Given the description of an element on the screen output the (x, y) to click on. 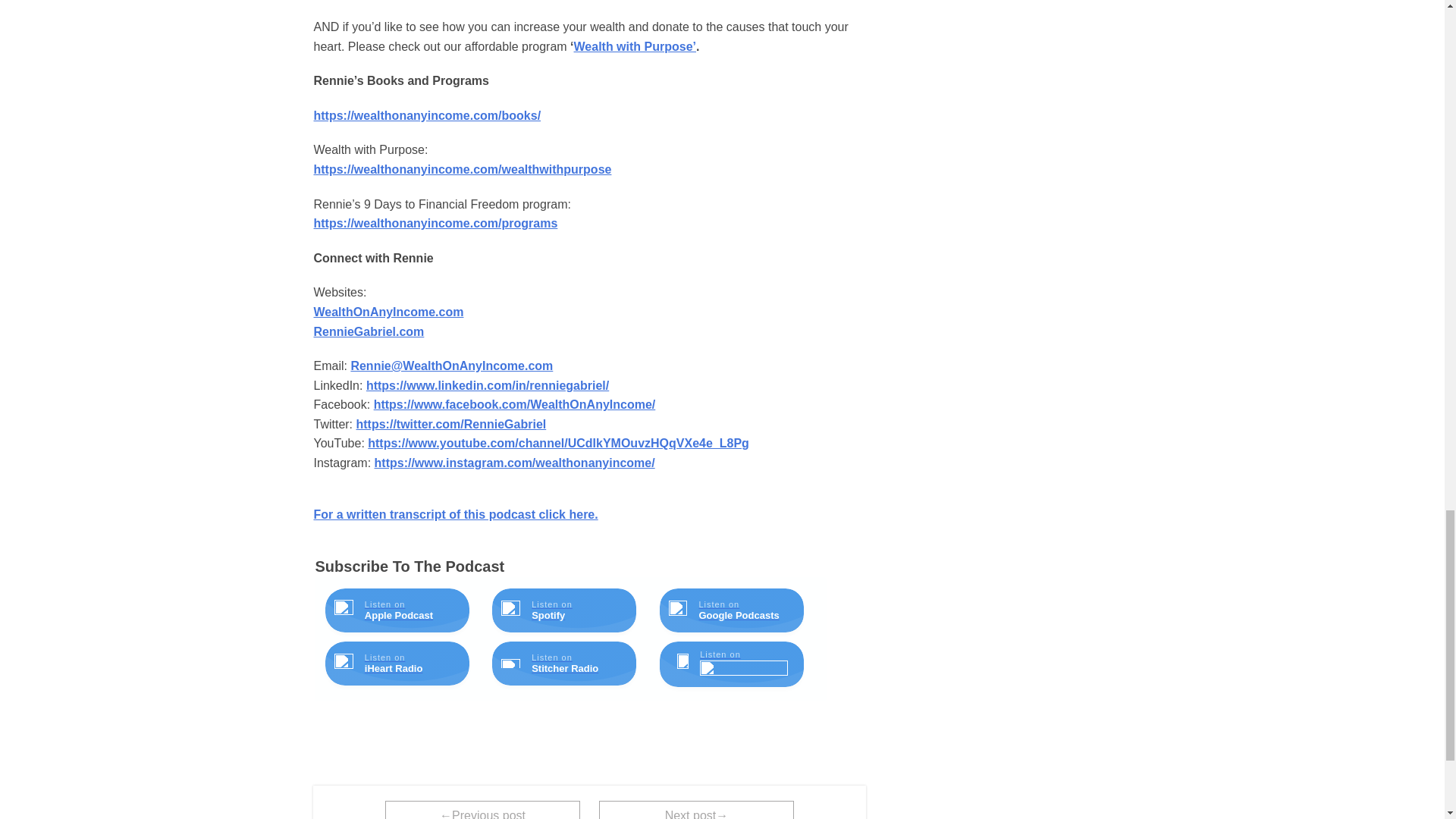
RennieGabriel.com (369, 331)
For a written transcript of this podcast click here. (456, 513)
Spotify-Logo-Symbol (509, 609)
iheart radio (343, 662)
GPodcastLogo-Symbol (677, 609)
WealthOnAnyIncome.com (389, 311)
Amazon Music (743, 669)
